Given the description of an element on the screen output the (x, y) to click on. 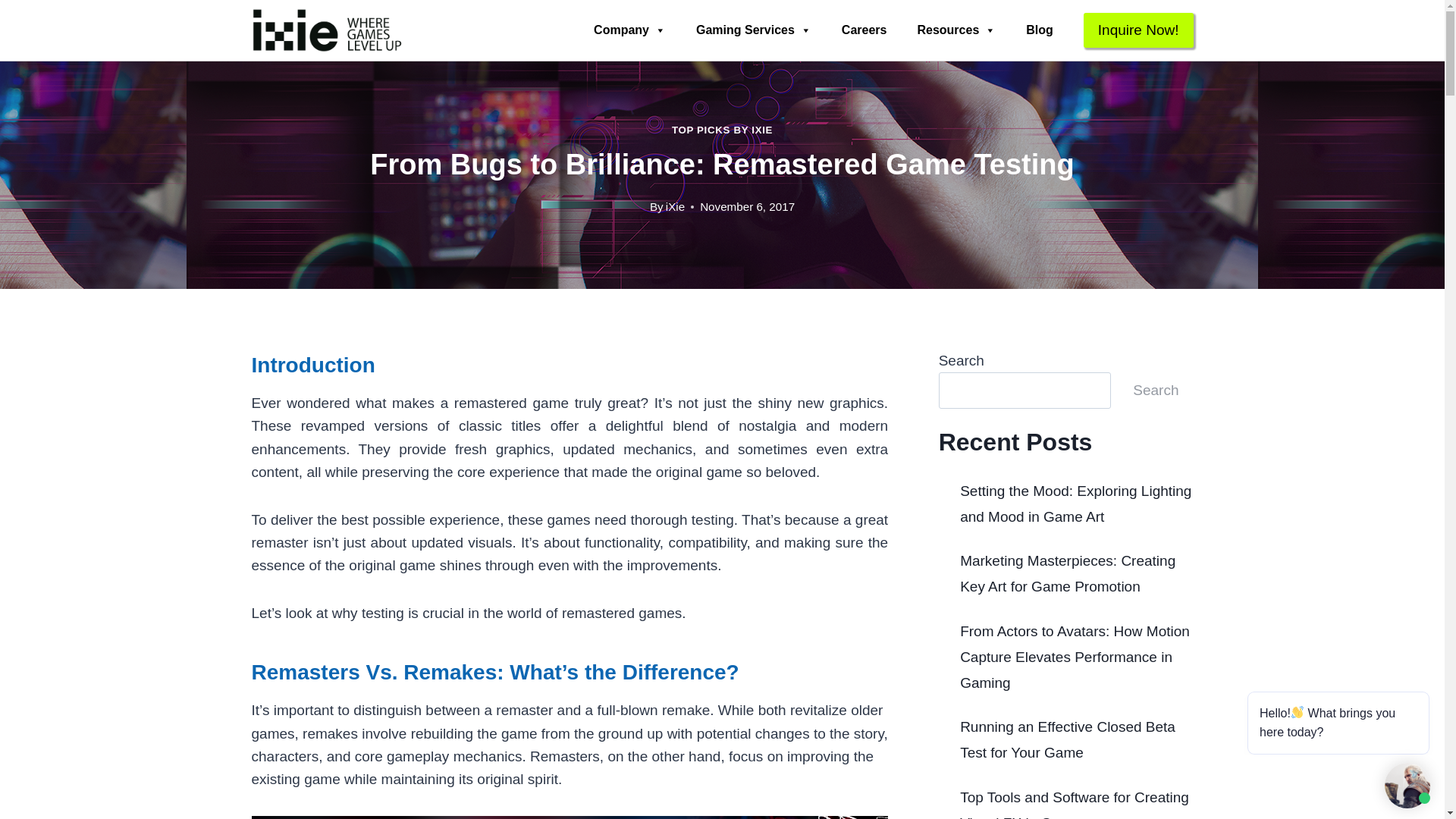
Company (629, 30)
Careers (864, 30)
Inquire Now! (1138, 30)
Gaming Services (753, 30)
Blog (1039, 30)
Resources (955, 30)
